Given the description of an element on the screen output the (x, y) to click on. 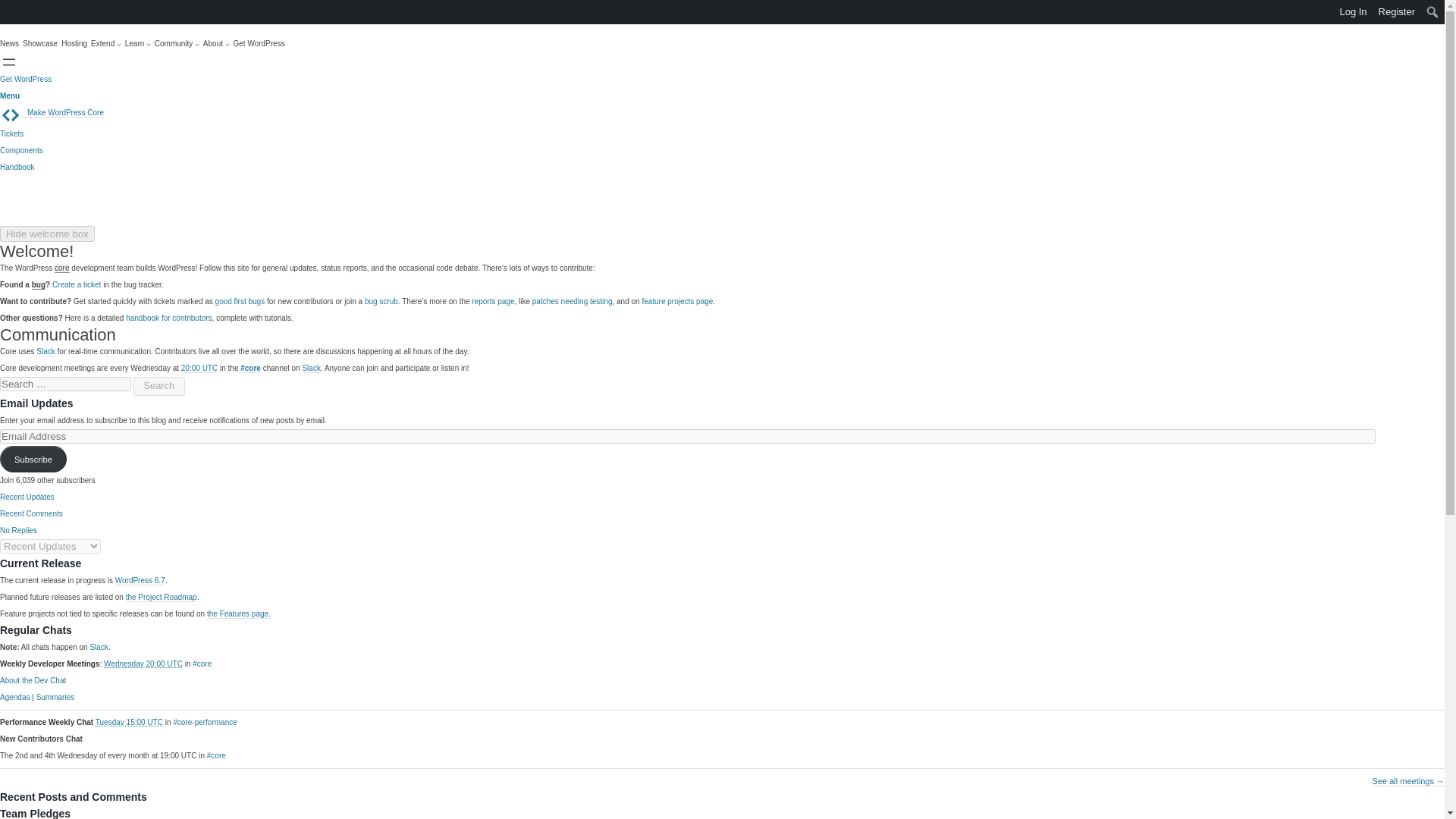
Search (16, 12)
Extend (105, 44)
Get WordPress (25, 79)
WordPress.org (10, 10)
About (216, 44)
Register (1397, 12)
Showcase (40, 44)
Hosting (74, 44)
Community (176, 44)
Learn (138, 44)
